Given the description of an element on the screen output the (x, y) to click on. 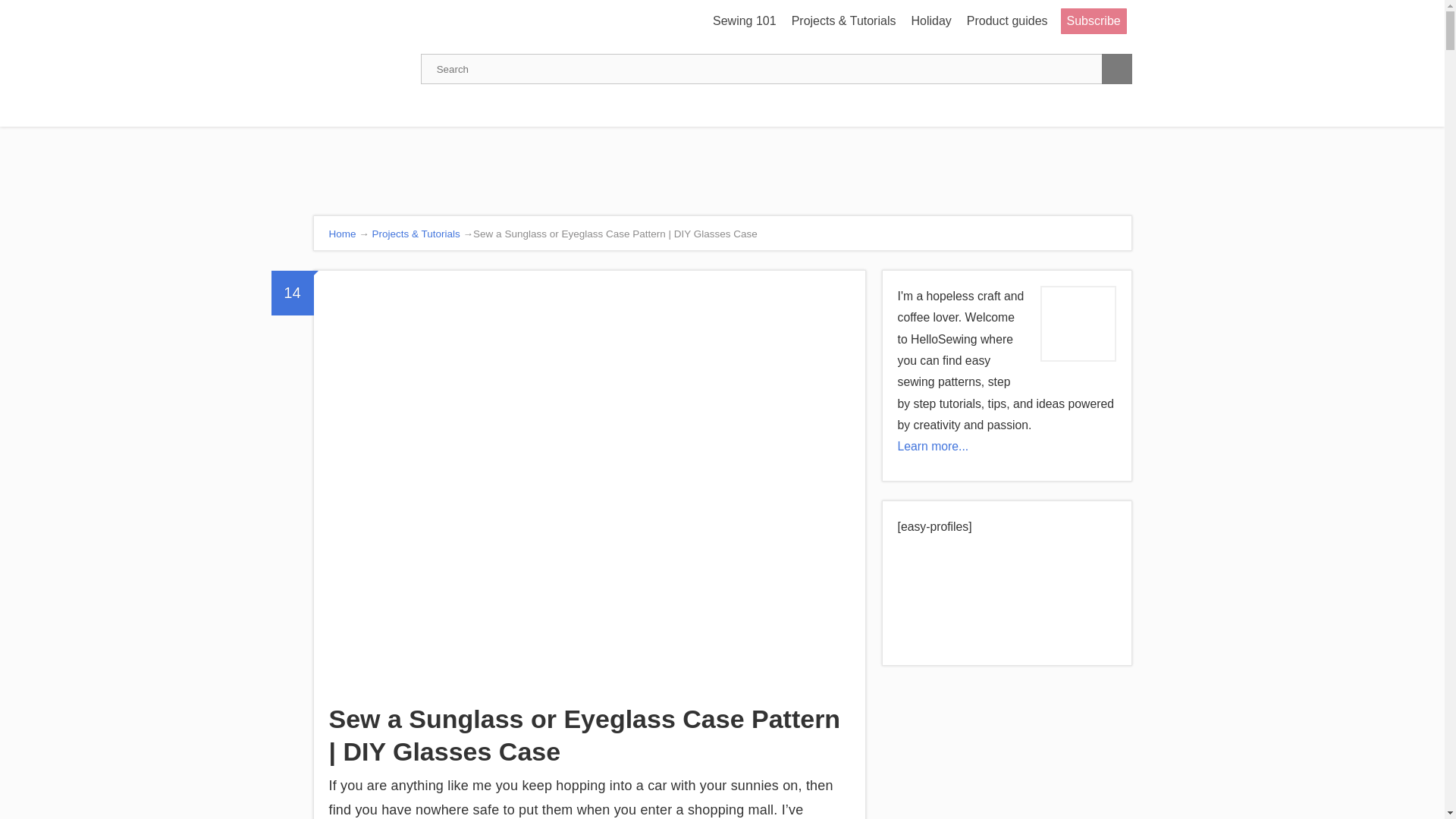
Home (342, 233)
Sewing 101 (744, 21)
14 (292, 293)
Subscribe (1093, 21)
Product guides (1007, 21)
Holiday (930, 21)
